Given the description of an element on the screen output the (x, y) to click on. 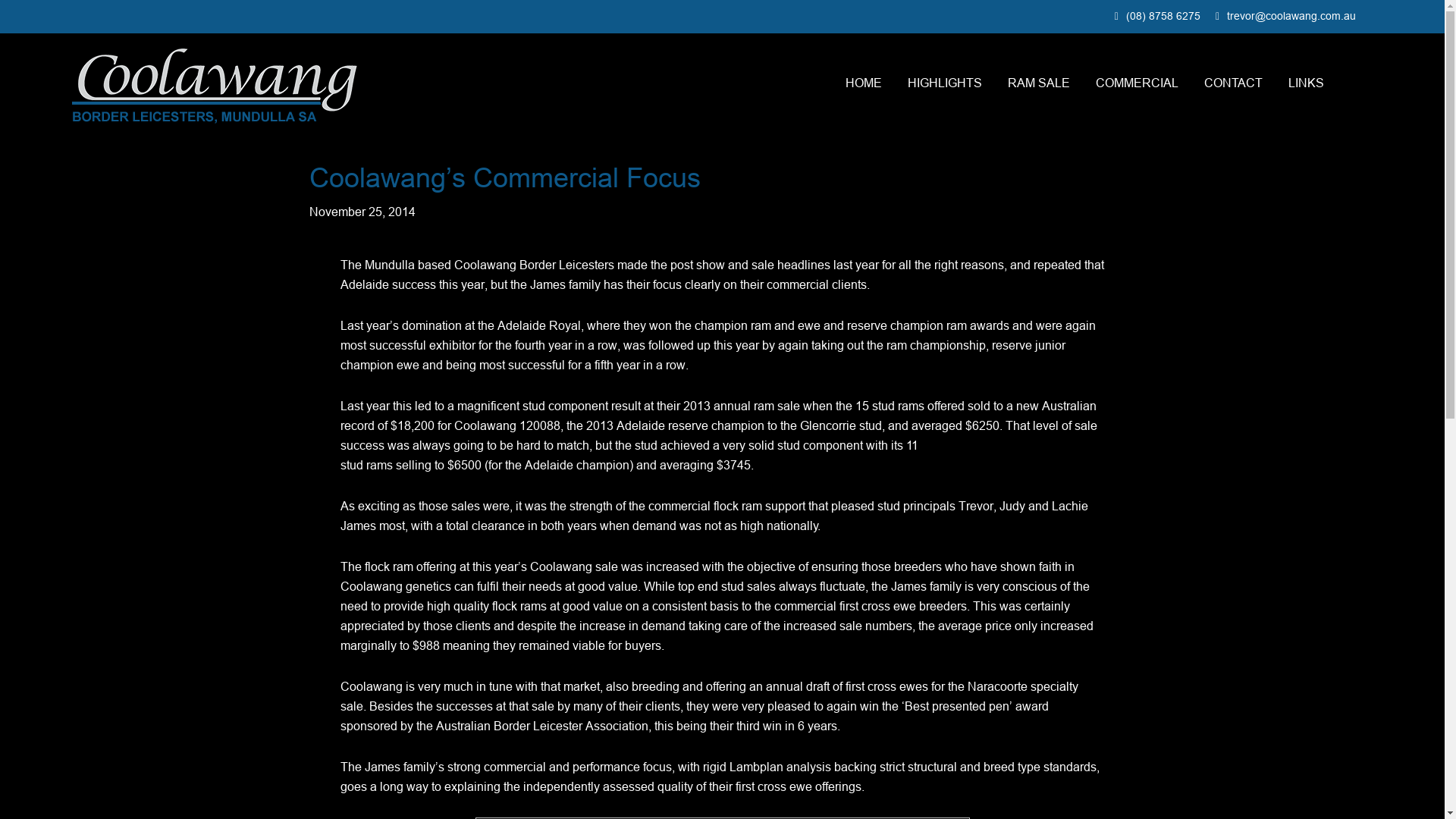
CONTACT Element type: text (1233, 82)
HIGHLIGHTS Element type: text (944, 82)
LINKS Element type: text (1306, 82)
FACEBOOK Element type: text (1355, 86)
RAM SALE Element type: text (1038, 82)
(08) 8758 6275 Element type: text (1163, 15)
COMMERCIAL Element type: text (1136, 82)
trevor@coolawang.com.au Element type: text (1290, 15)
HOME Element type: text (863, 82)
Coolawang Border Leicesters Element type: text (214, 85)
